Given the description of an element on the screen output the (x, y) to click on. 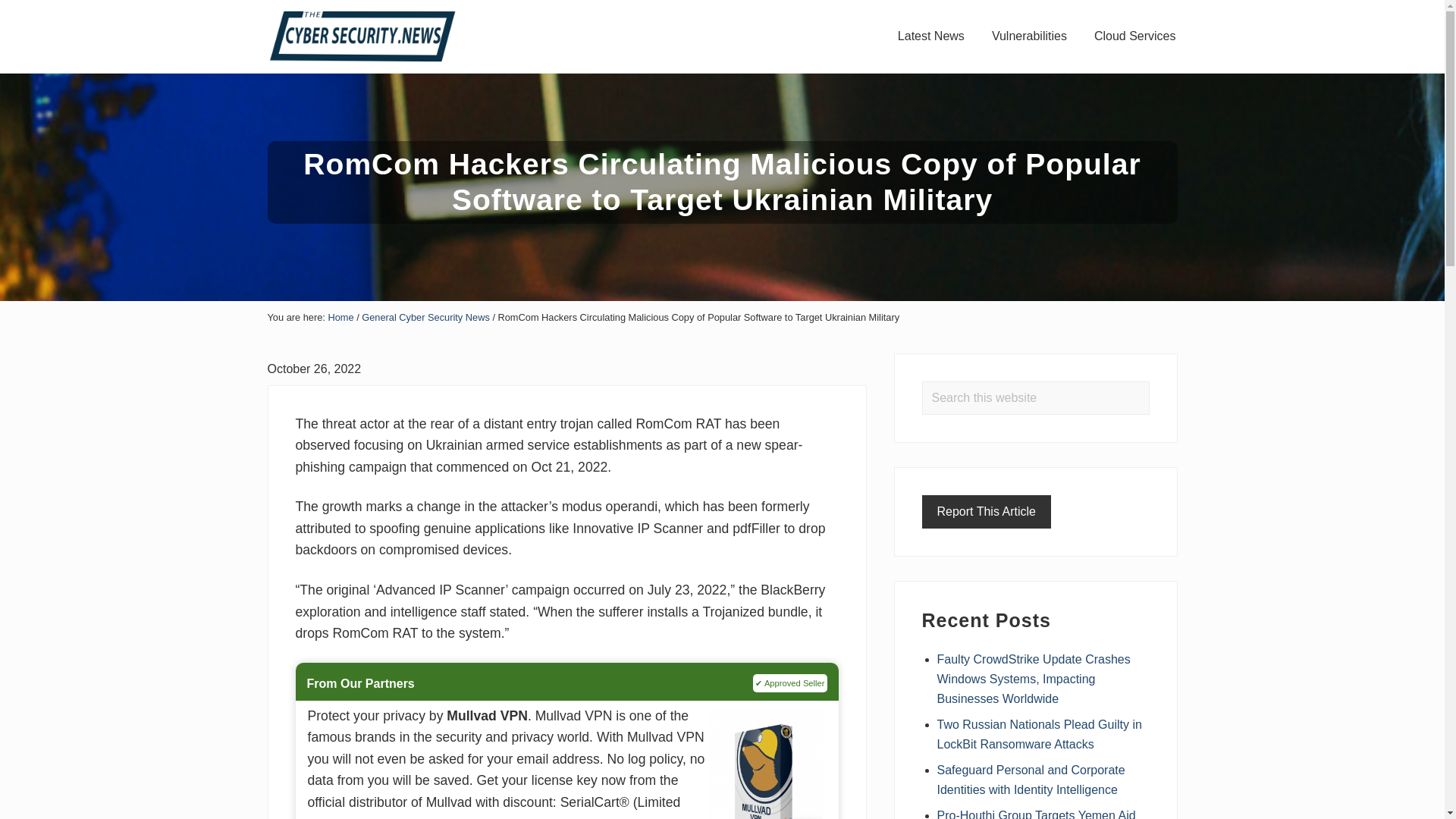
General Cyber Security News (425, 317)
Report This Article (986, 511)
Home (340, 317)
Latest News (930, 35)
Cloud Services (1134, 35)
Vulnerabilities (1028, 35)
